Given the description of an element on the screen output the (x, y) to click on. 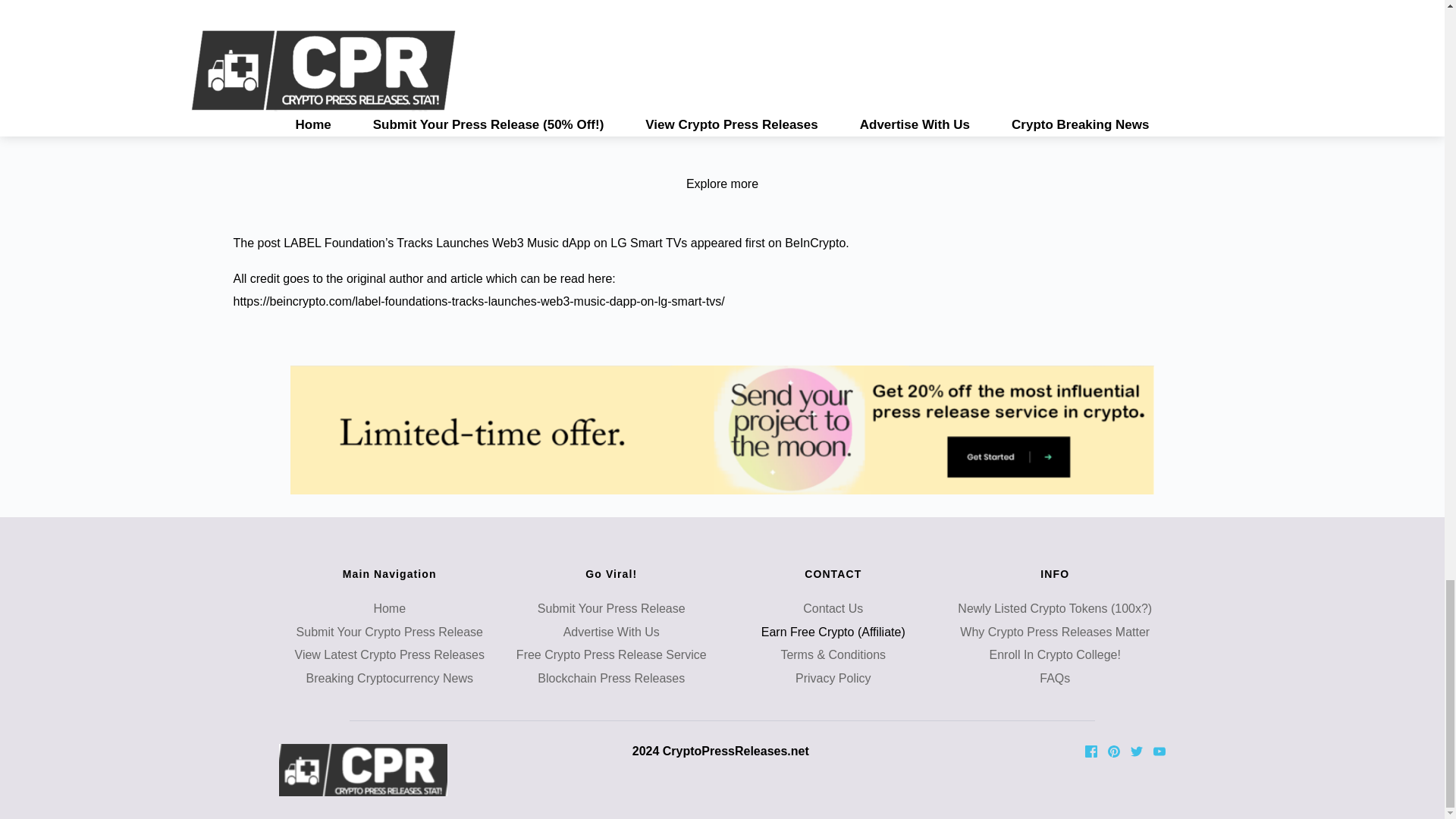
Breaking Cryptocurrency News (389, 677)
Free Crypto Press Release Service (611, 654)
Contact Us (833, 608)
Submit Your Crypto Press Release (390, 631)
Submit Your Press Release (611, 608)
Enroll In Crypto College! (1055, 654)
Home (389, 608)
View Latest Crypto Press Releases (388, 654)
Blockchain Press Releases (610, 677)
2024 CryptoPressReleases.net  (721, 750)
Privacy Policy (832, 677)
Advertise With Us (611, 631)
Why Crypto Press Releases Matter (1054, 631)
FAQs (1054, 677)
